Given the description of an element on the screen output the (x, y) to click on. 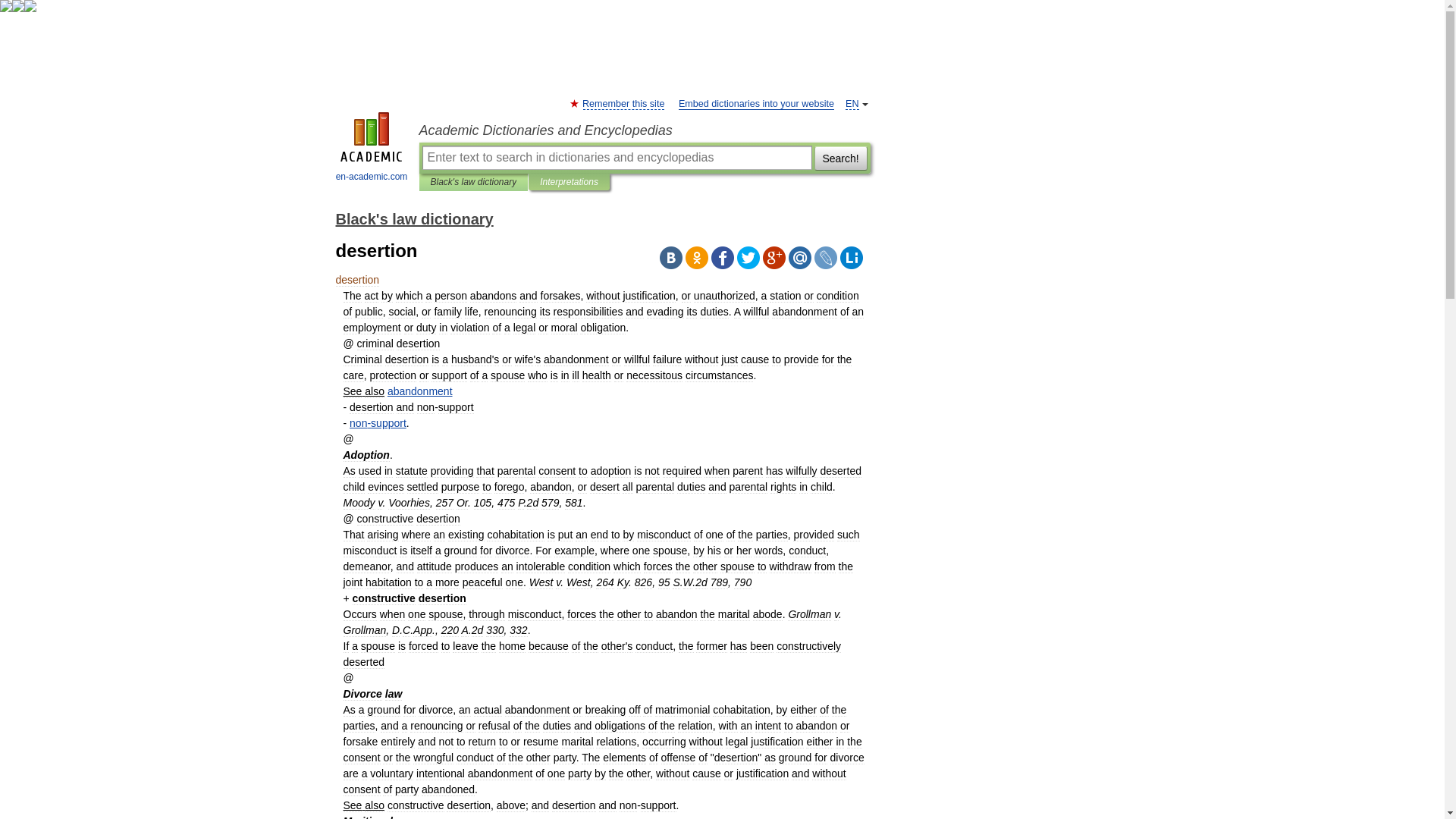
Embed dictionaries into your website (756, 103)
Search! (840, 157)
Black's law dictionary (413, 218)
Interpretations (569, 181)
EN (852, 103)
en-academic.com (371, 148)
Academic Dictionaries and Encyclopedias (644, 130)
Black's law dictionary (473, 181)
abandonment (419, 390)
Remember this site (623, 103)
